Given the description of an element on the screen output the (x, y) to click on. 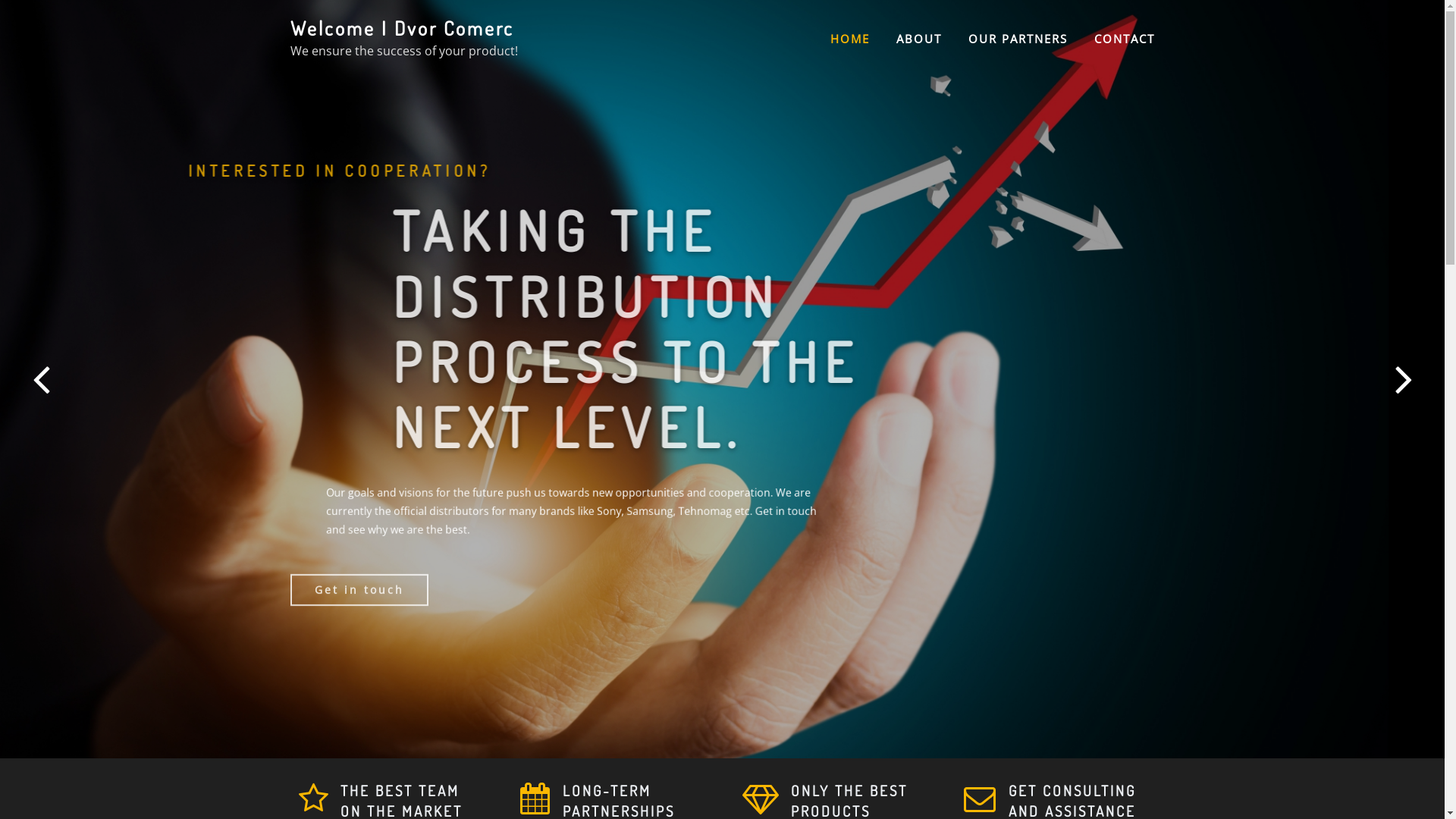
OUR PARTNERS Element type: text (1016, 38)
CONTACT Element type: text (1123, 38)
ABOUT Element type: text (918, 38)
Welcome I Dvor Comerc Element type: text (401, 27)
HOME Element type: text (849, 38)
